Given the description of an element on the screen output the (x, y) to click on. 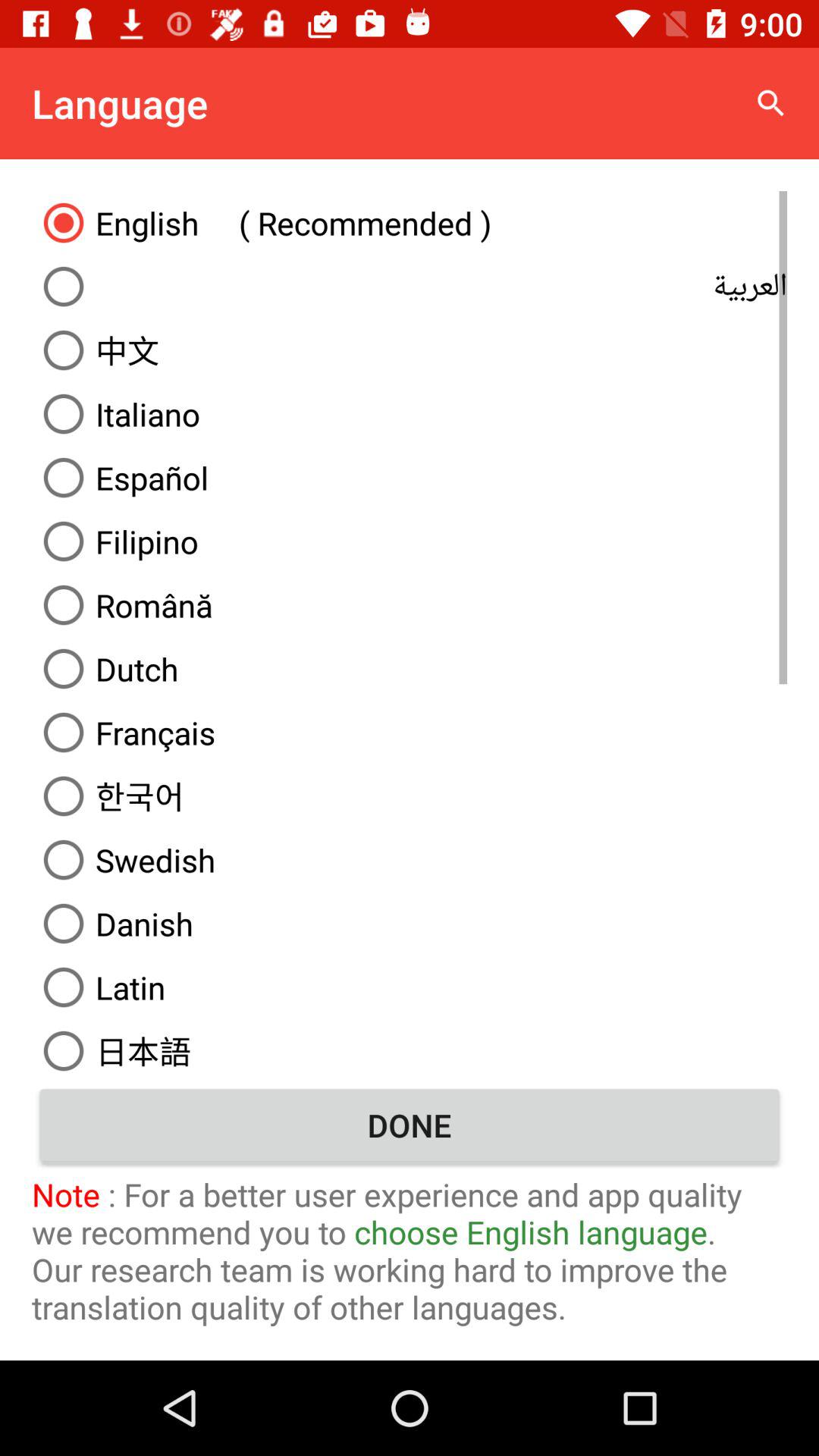
open icon above filipino item (409, 477)
